Given the description of an element on the screen output the (x, y) to click on. 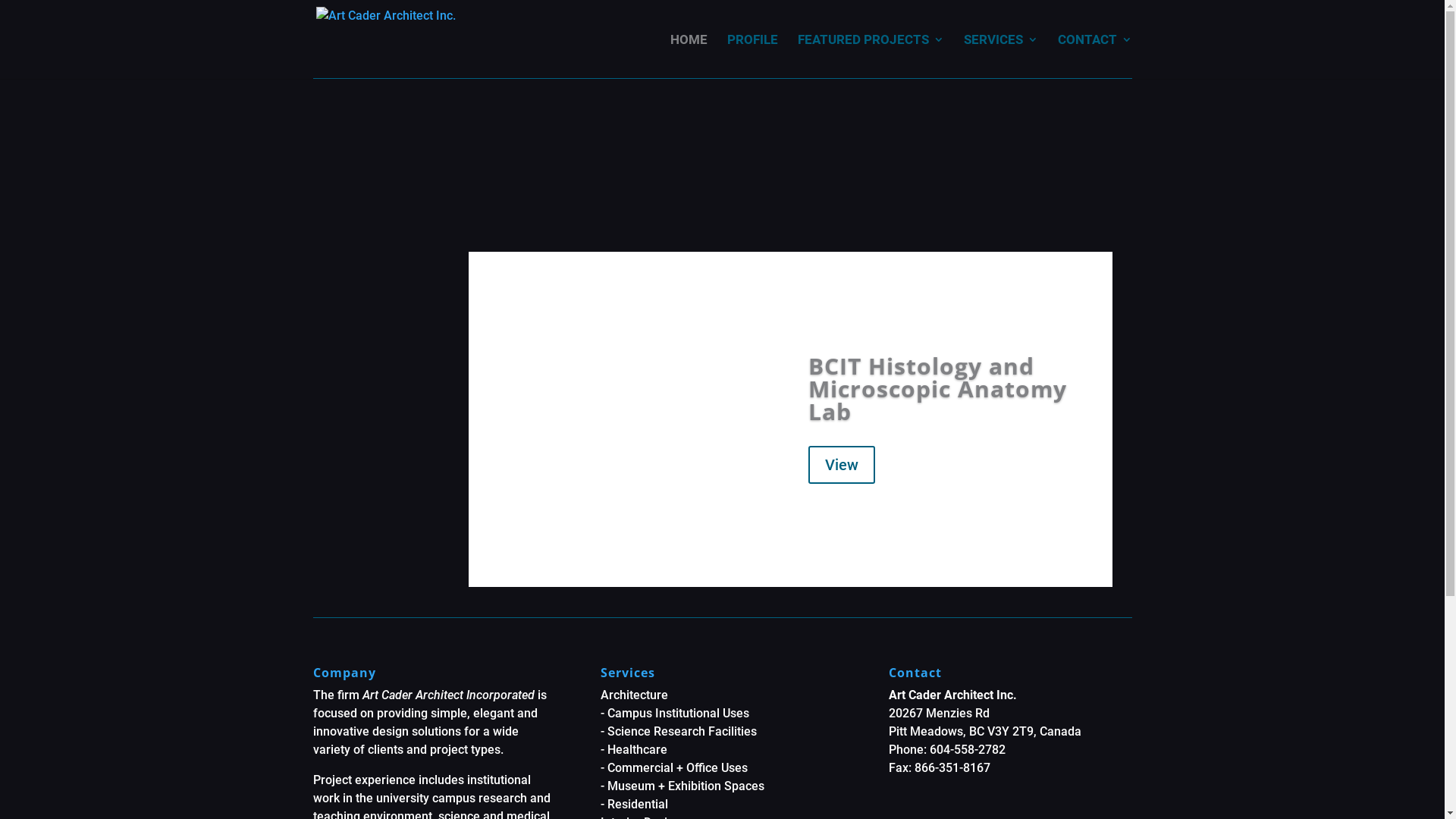
HOME Element type: text (688, 56)
BCIT Histology and Microscopic Anatomy Lab Element type: text (937, 388)
FEATURED PROJECTS Element type: text (870, 56)
CONTACT Element type: text (1094, 56)
SERVICES Element type: text (1000, 56)
PROFILE Element type: text (751, 56)
View Element type: text (841, 464)
